Given the description of an element on the screen output the (x, y) to click on. 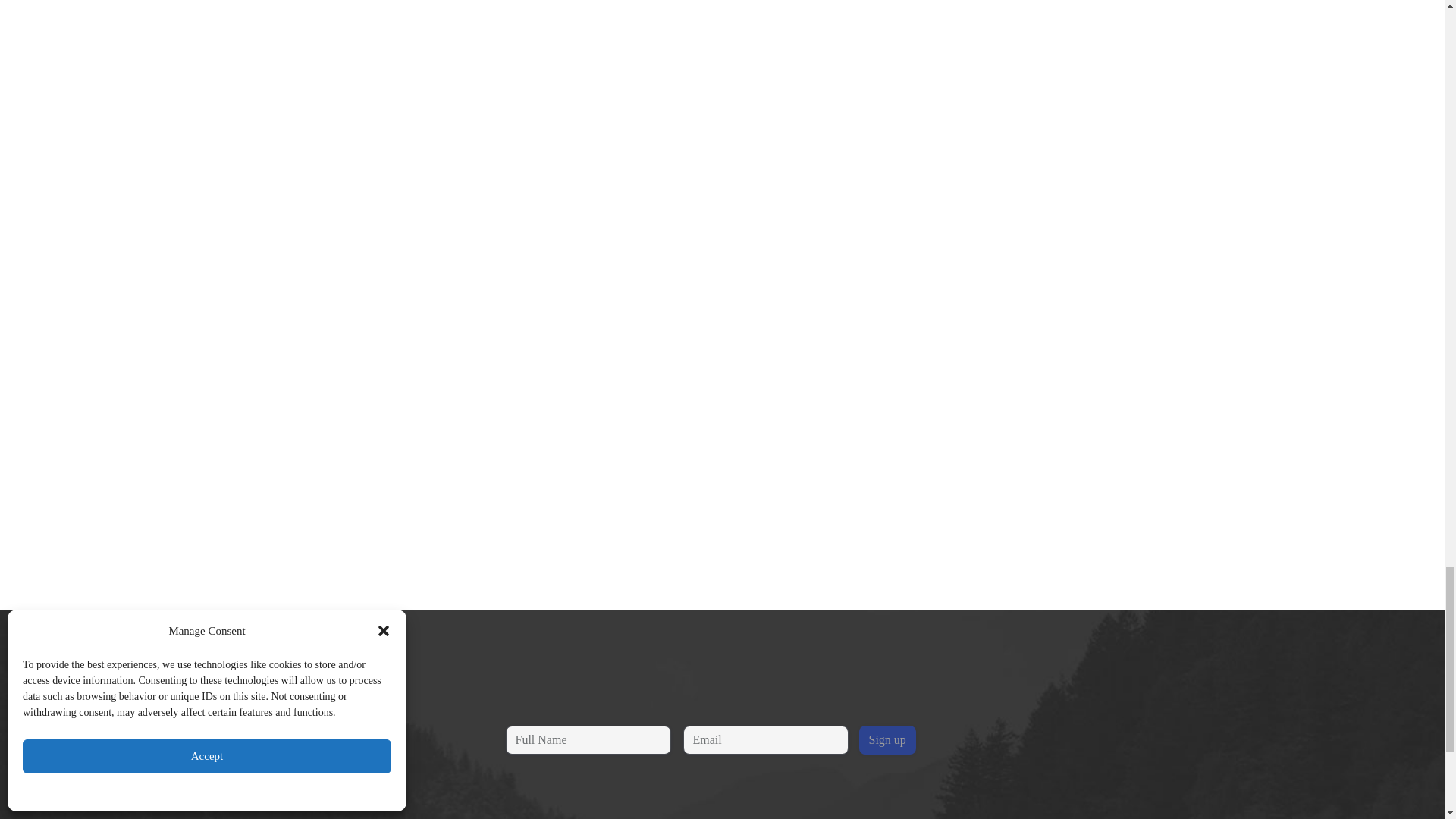
Sign up (887, 739)
